Given the description of an element on the screen output the (x, y) to click on. 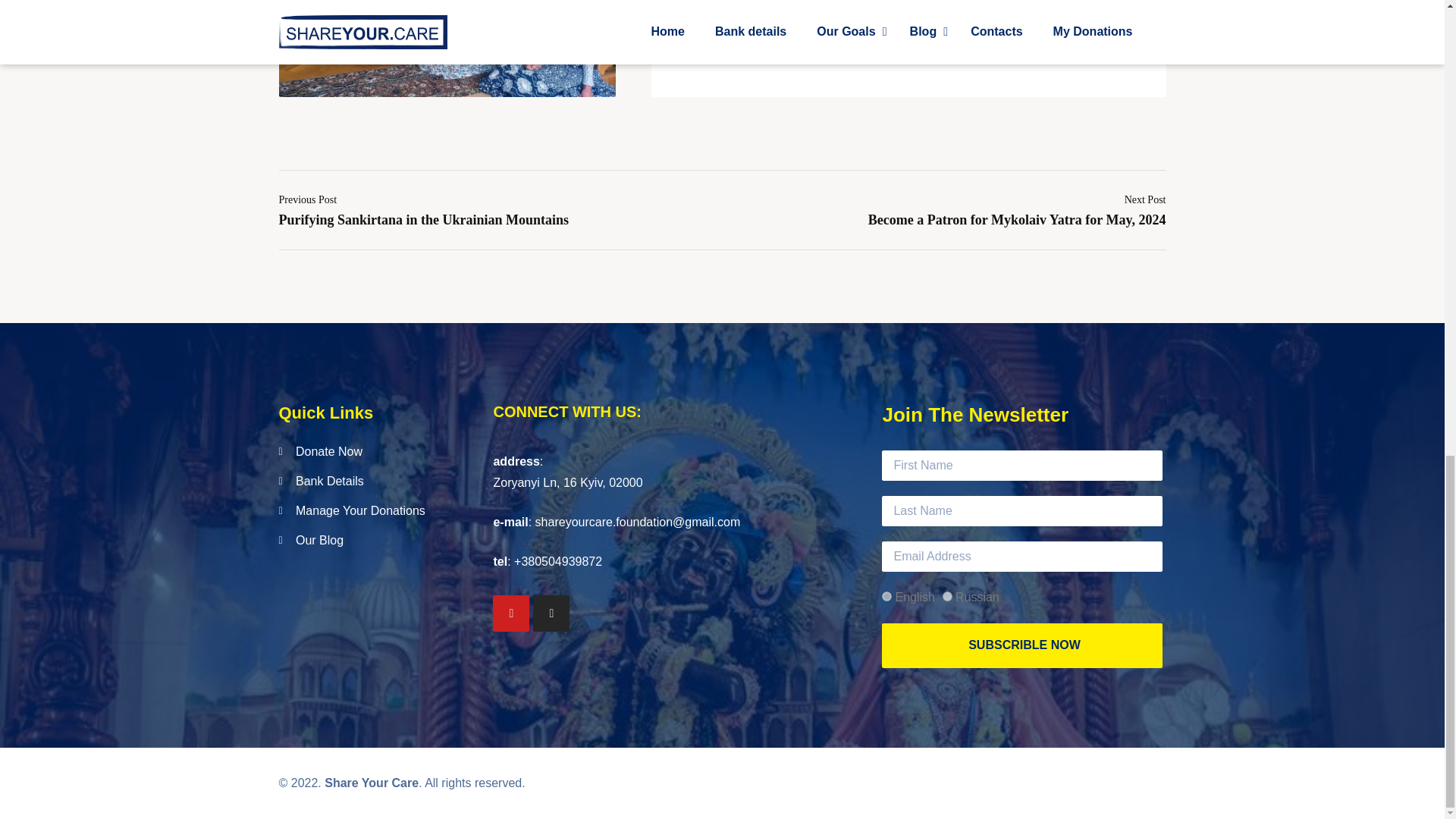
Russian (947, 596)
English (886, 596)
